Given the description of an element on the screen output the (x, y) to click on. 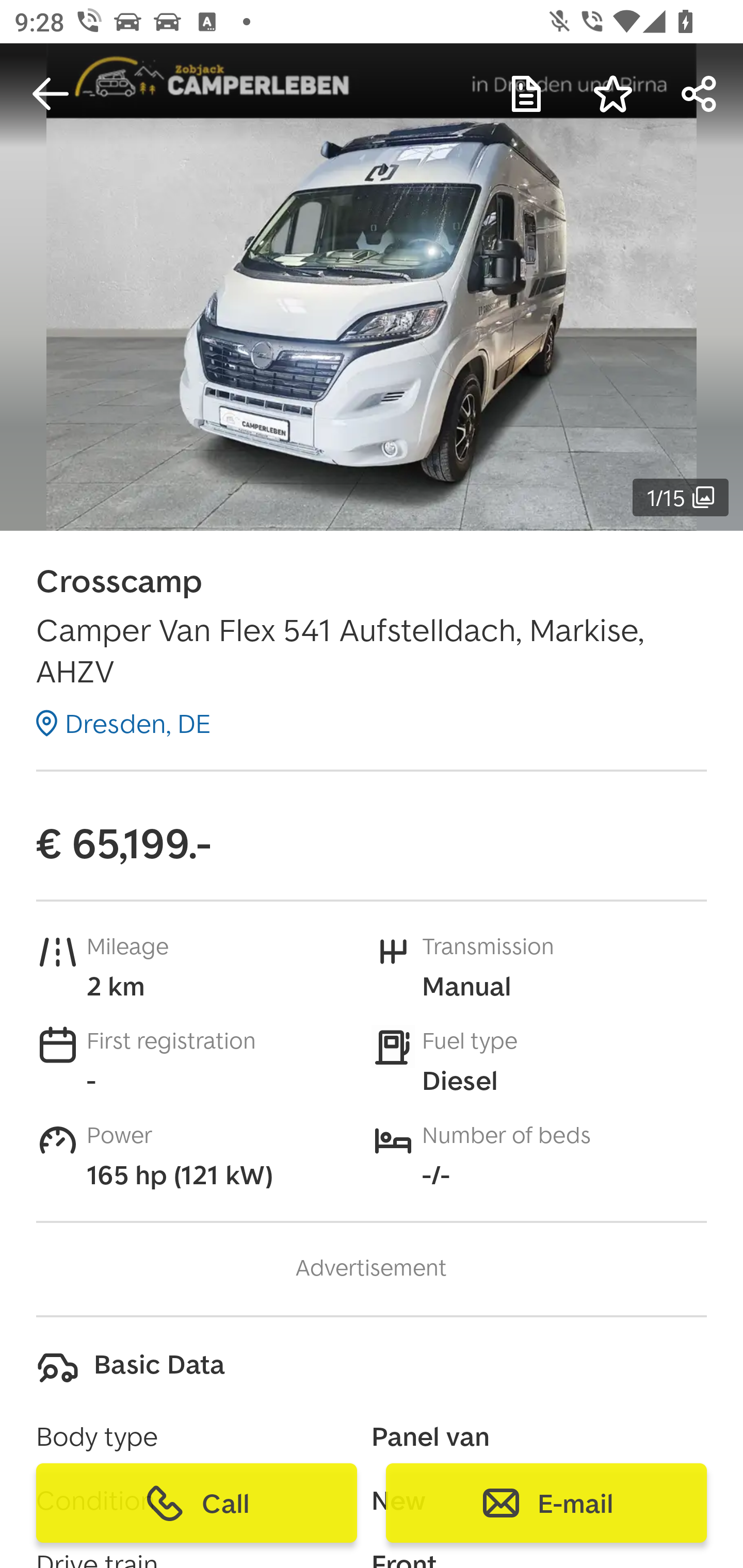
Navigate up (50, 93)
My Notes (525, 93)
Save (612, 93)
Forward (699, 93)
Dresden, DE (123, 722)
Call (196, 1502)
E-mail (545, 1502)
